Given the description of an element on the screen output the (x, y) to click on. 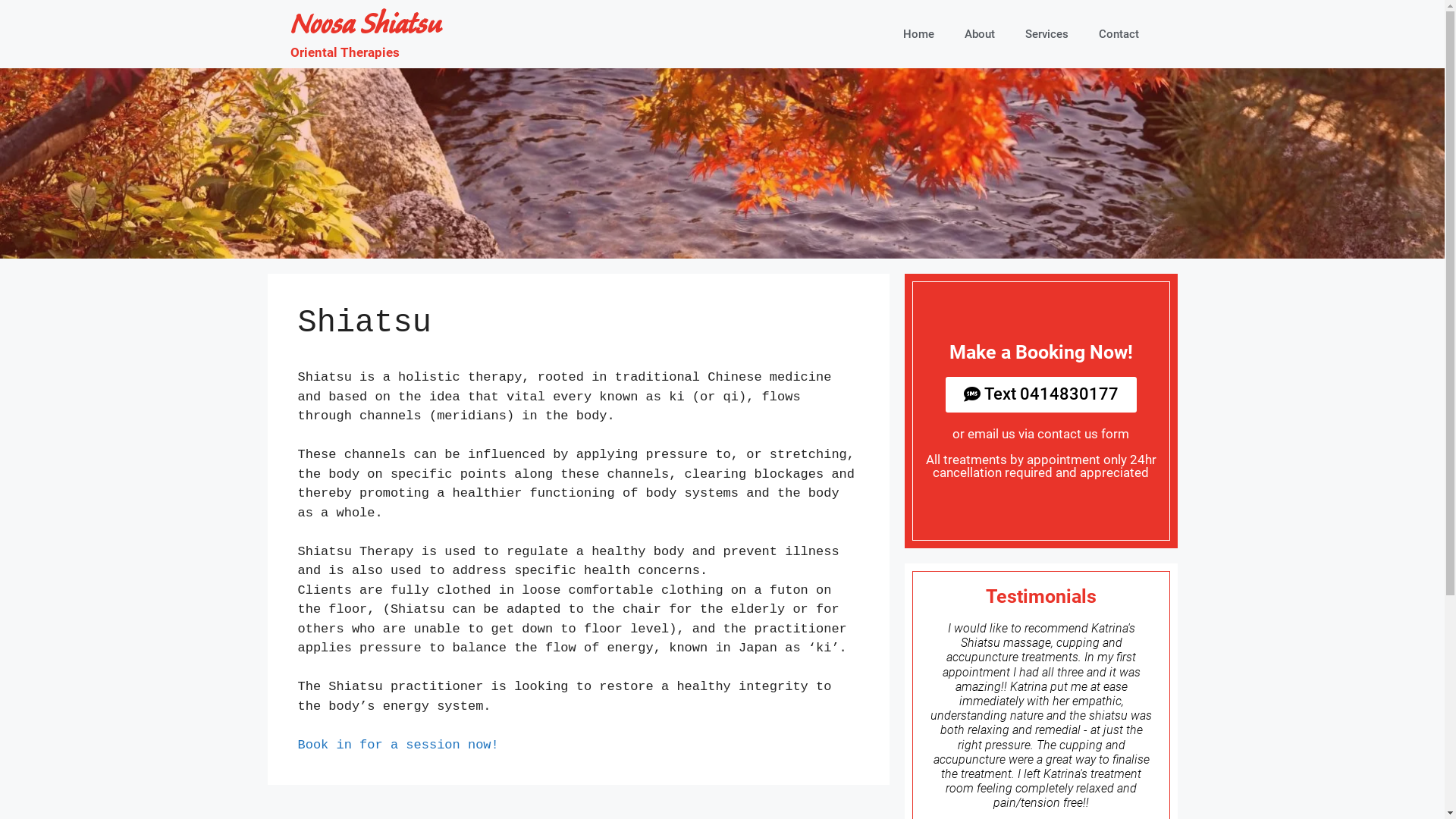
Home Element type: text (918, 34)
Noosa Shiatsu Element type: text (364, 27)
Text 0414830177 Element type: text (1039, 394)
Services Element type: text (1046, 34)
About Element type: text (979, 34)
Book in for a session now! Element type: text (397, 744)
Contact Element type: text (1118, 34)
